Given the description of an element on the screen output the (x, y) to click on. 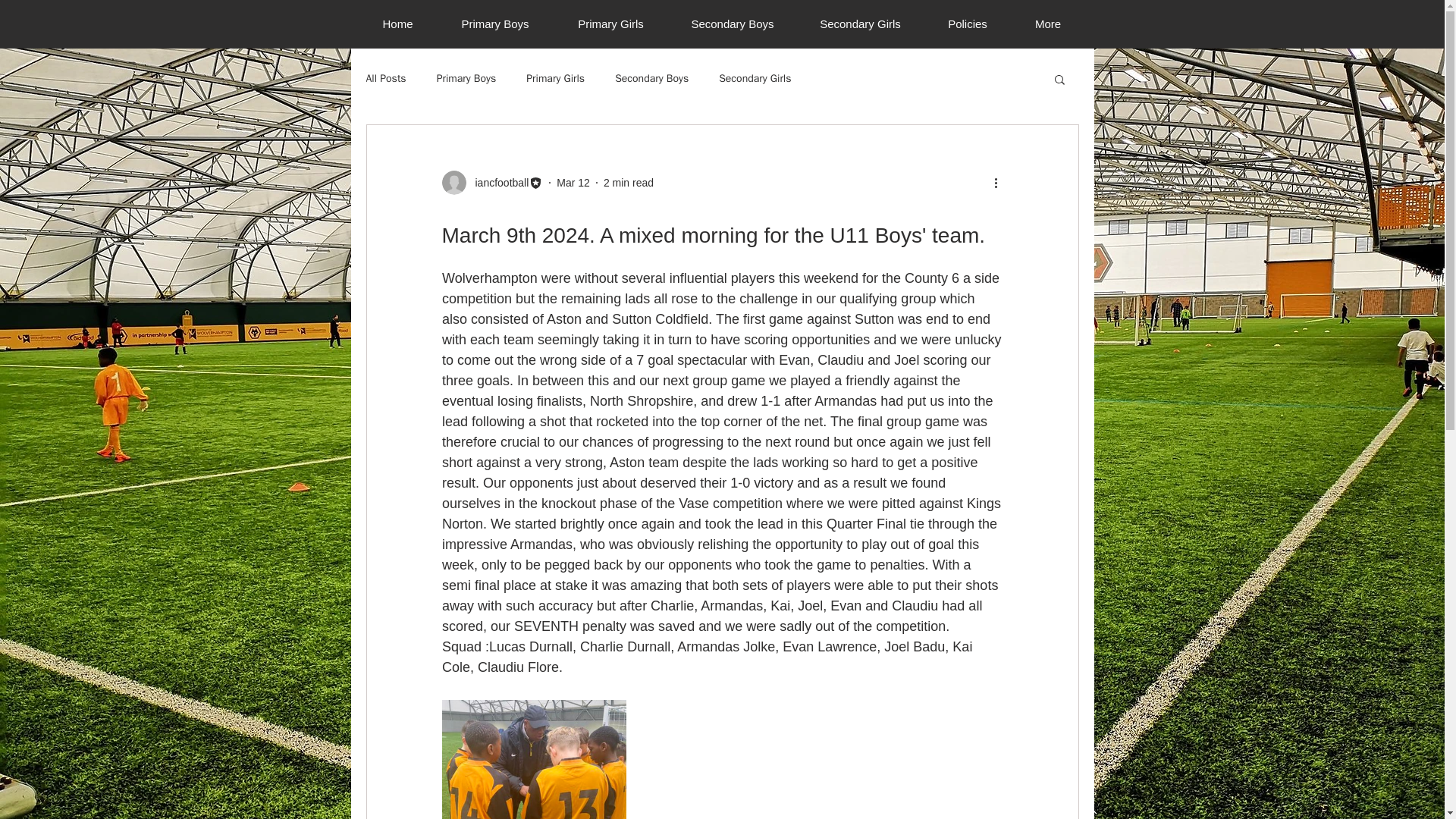
Secondary Girls (754, 78)
Primary Girls (555, 78)
All Posts (385, 78)
iancfootball (492, 182)
Home (397, 24)
iancfootball (496, 182)
Primary Boys (466, 78)
2 min read (628, 182)
Mar 12 (572, 182)
Secondary Boys (651, 78)
